Given the description of an element on the screen output the (x, y) to click on. 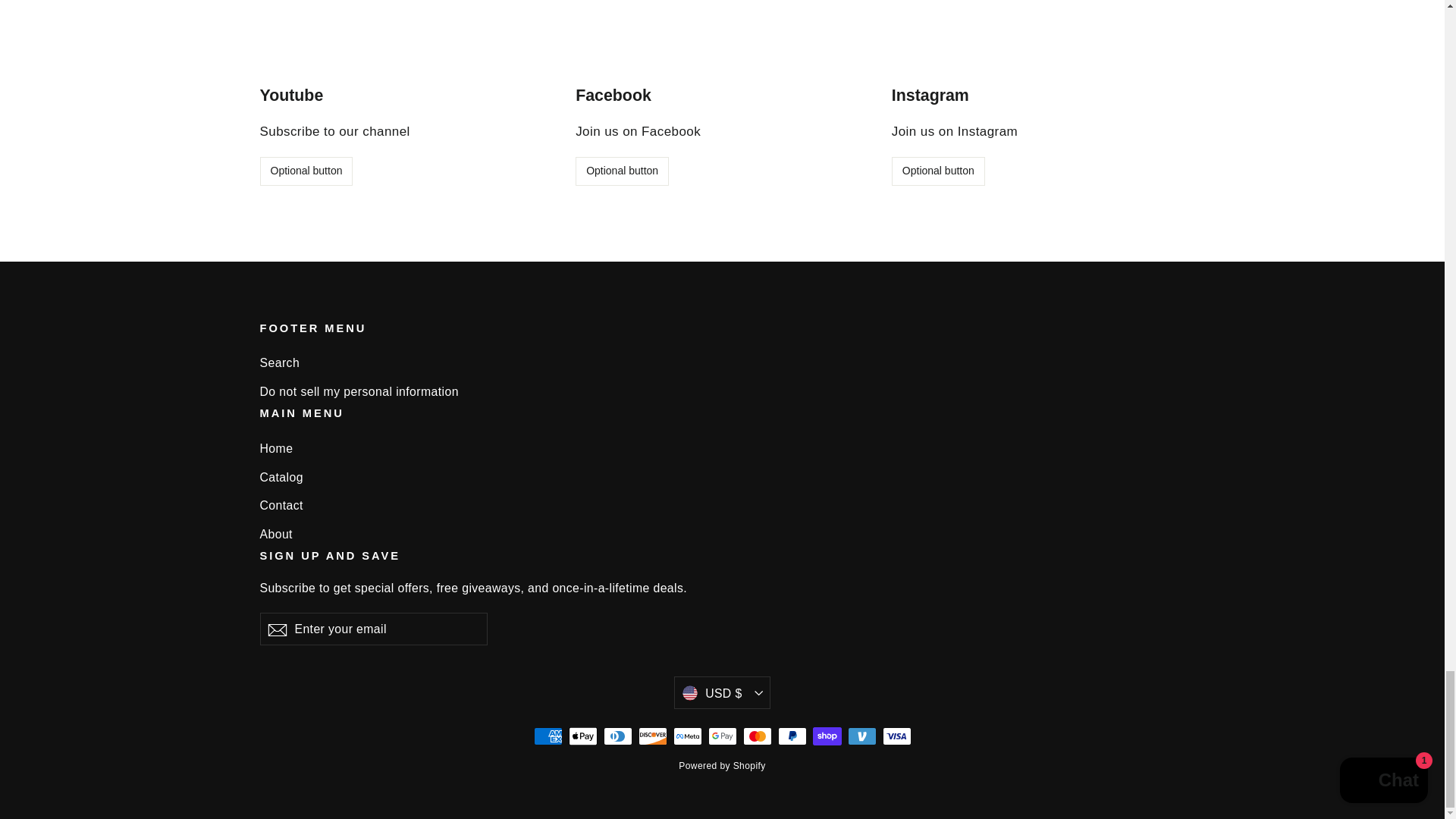
Optional button (305, 171)
Mastercard (756, 736)
Google Pay (721, 736)
Apple Pay (582, 736)
American Express (548, 736)
Discover (652, 736)
Meta Pay (686, 736)
Diners Club (617, 736)
Optional button (621, 171)
Optional button (938, 171)
